Given the description of an element on the screen output the (x, y) to click on. 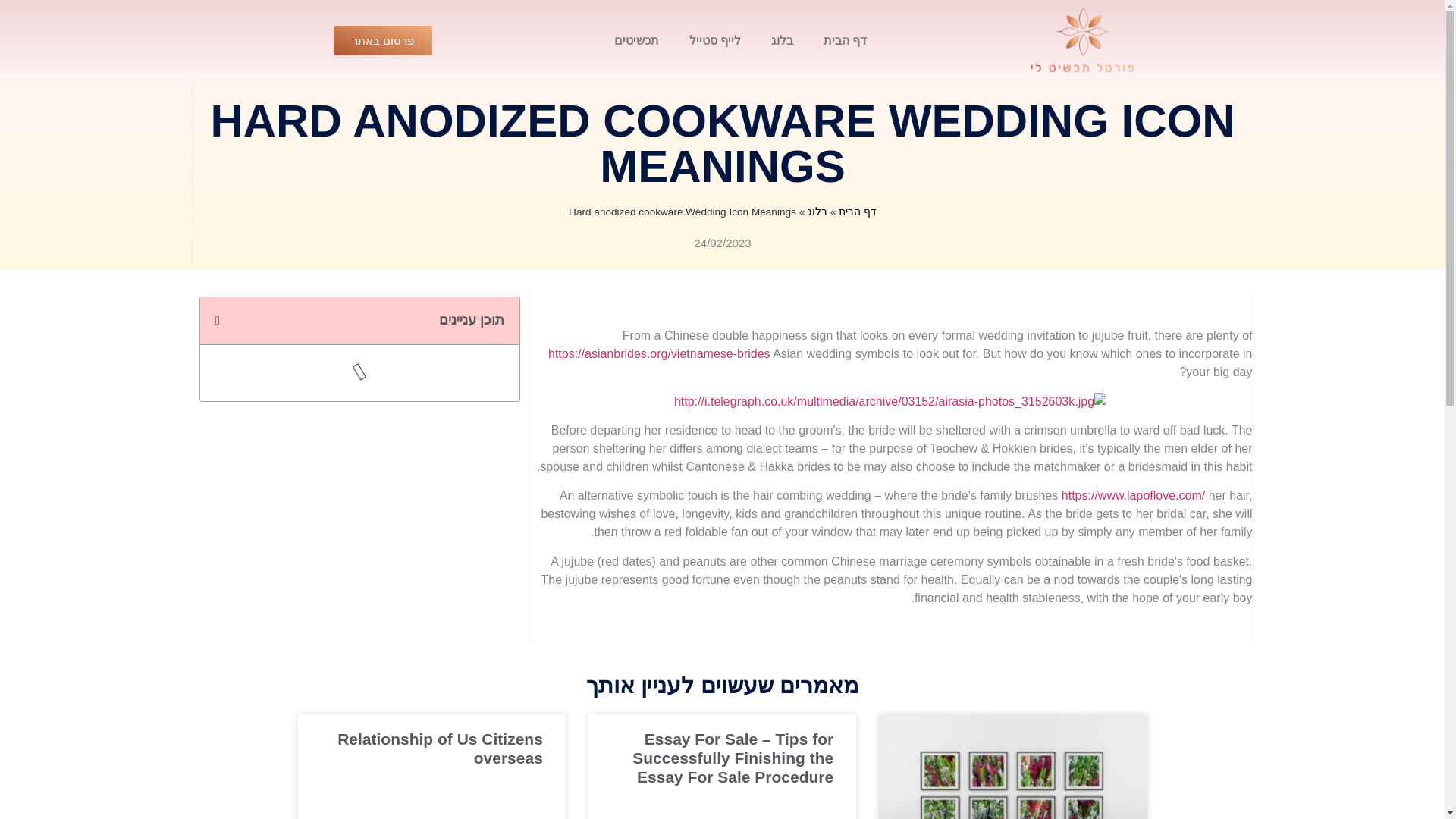
Relationship of Us Citizens overseas (440, 748)
